Given the description of an element on the screen output the (x, y) to click on. 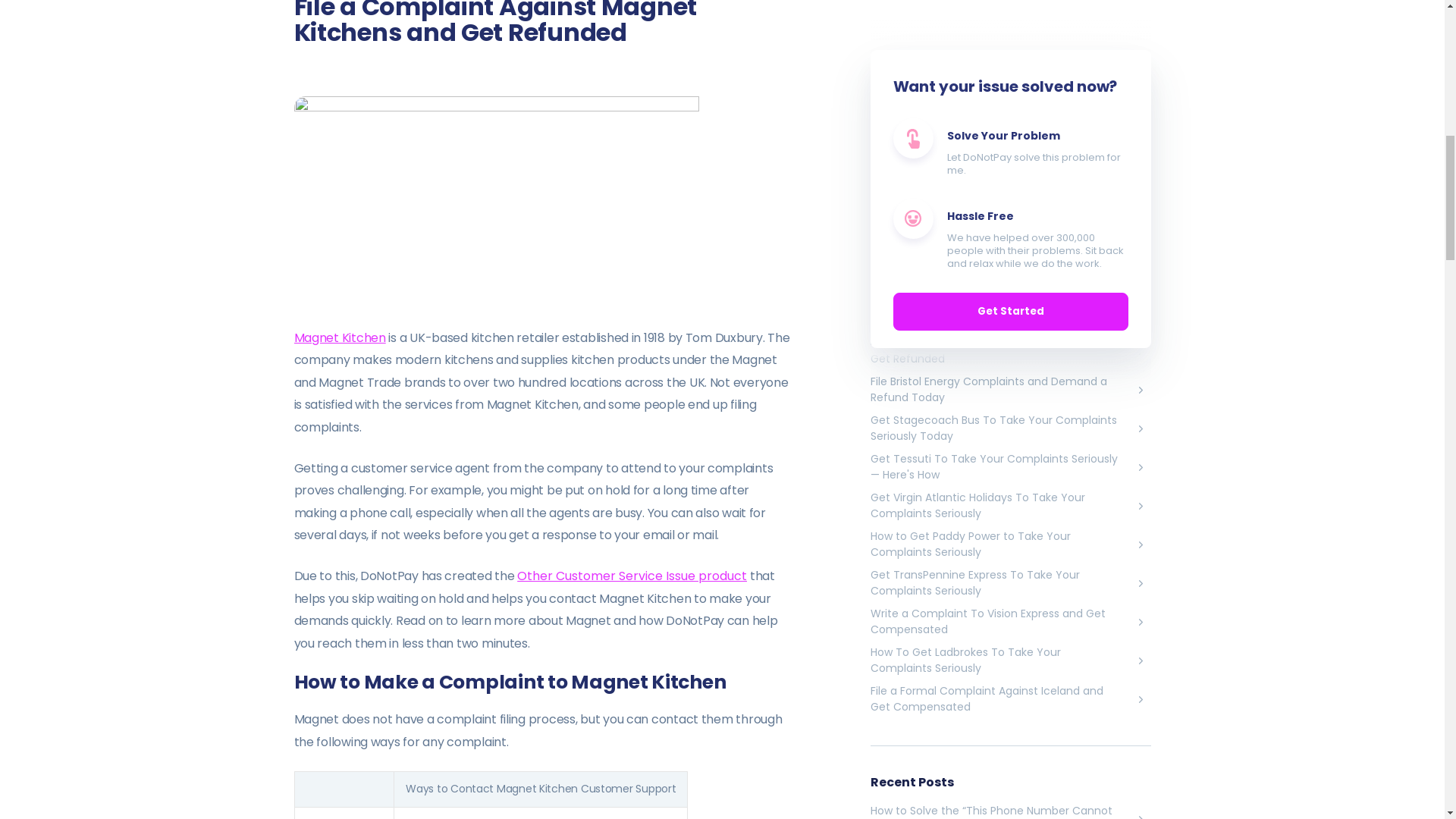
Contact Us (434, 817)
Magnet Kitchen (339, 337)
Other Customer Service Issue product (631, 575)
